Given the description of an element on the screen output the (x, y) to click on. 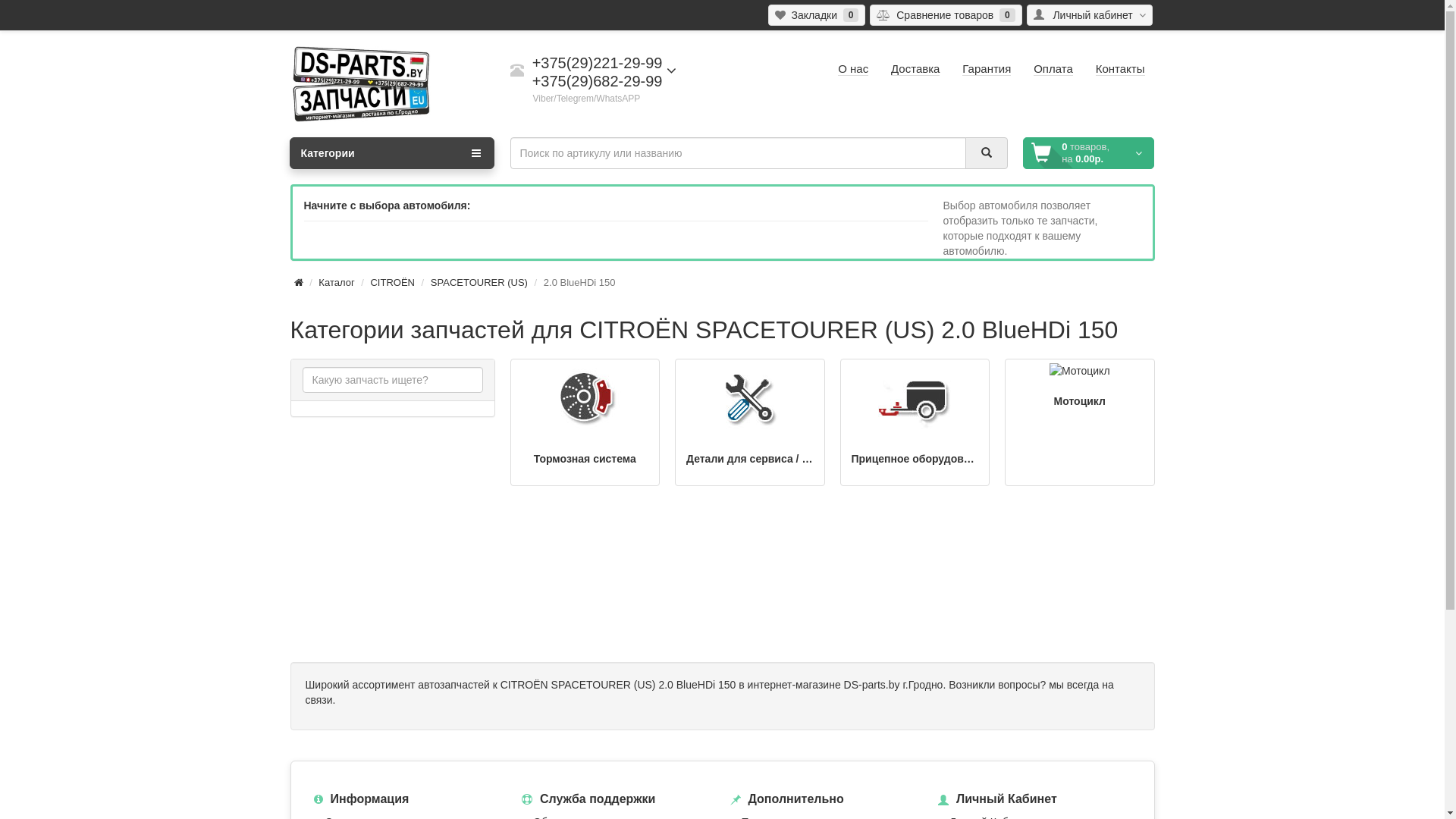
SPACETOURER (US) Element type: text (478, 282)
